Given the description of an element on the screen output the (x, y) to click on. 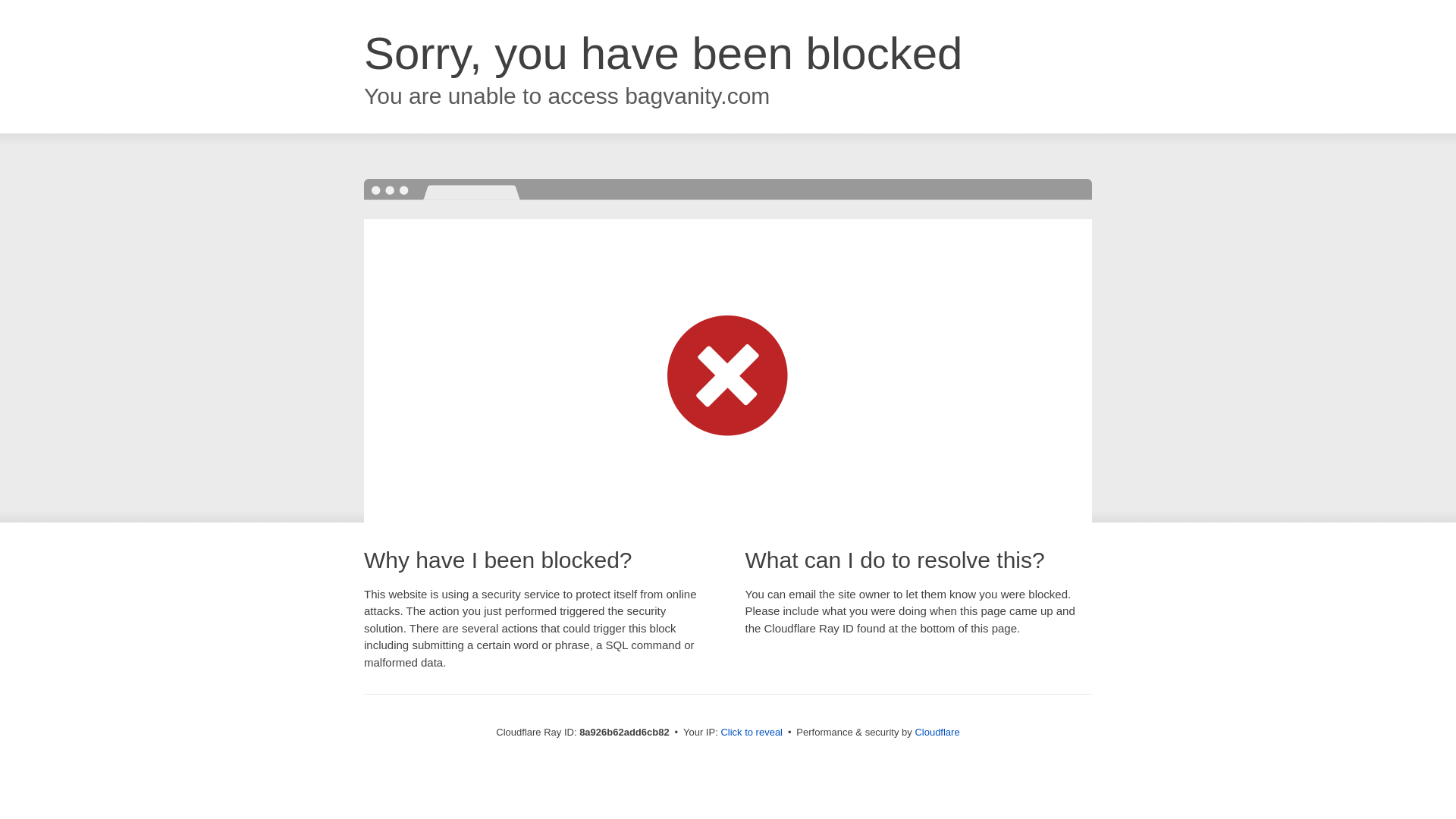
Cloudflare (936, 731)
Click to reveal (751, 732)
